Given the description of an element on the screen output the (x, y) to click on. 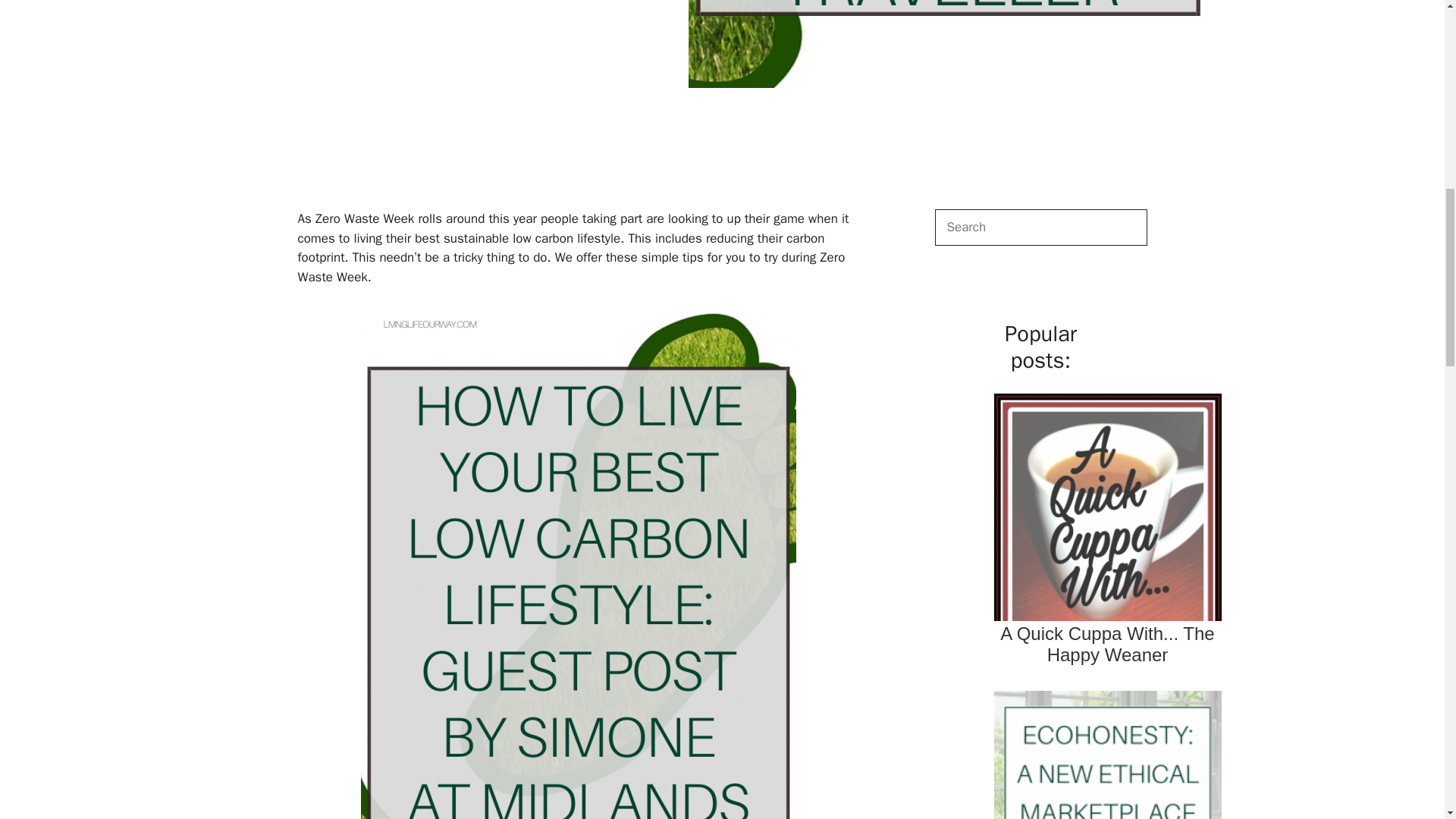
EcoHonesty: A New Ethical Marketplace (1106, 752)
